Given the description of an element on the screen output the (x, y) to click on. 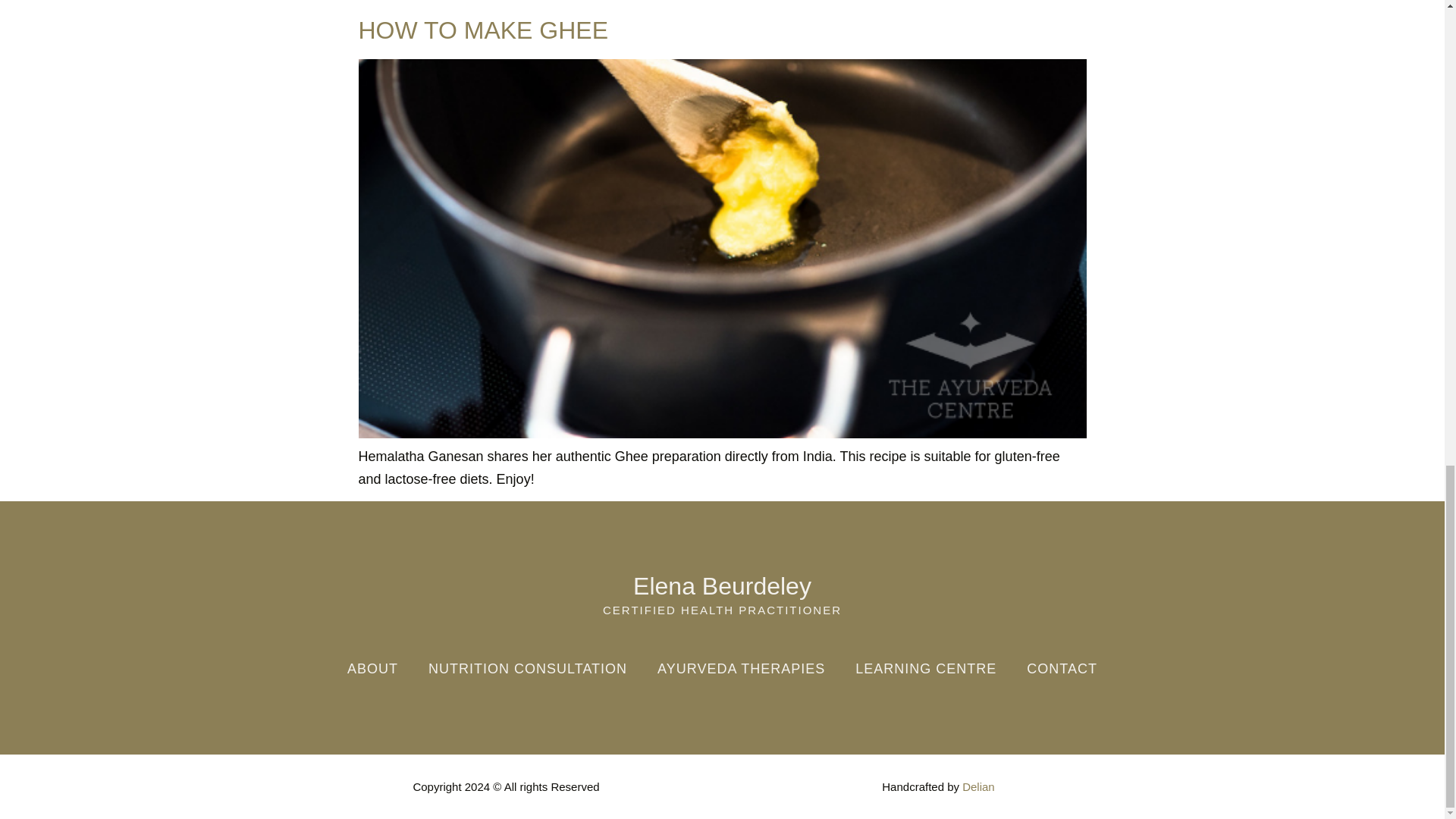
CERTIFIED HEALTH PRACTITIONER (721, 609)
Delian (978, 786)
AYURVEDA THERAPIES (741, 668)
Elena Beurdeley (721, 585)
LEARNING CENTRE (925, 668)
HOW TO MAKE GHEE (483, 30)
CONTACT (1061, 668)
NUTRITION CONSULTATION (527, 668)
ABOUT (372, 668)
